Given the description of an element on the screen output the (x, y) to click on. 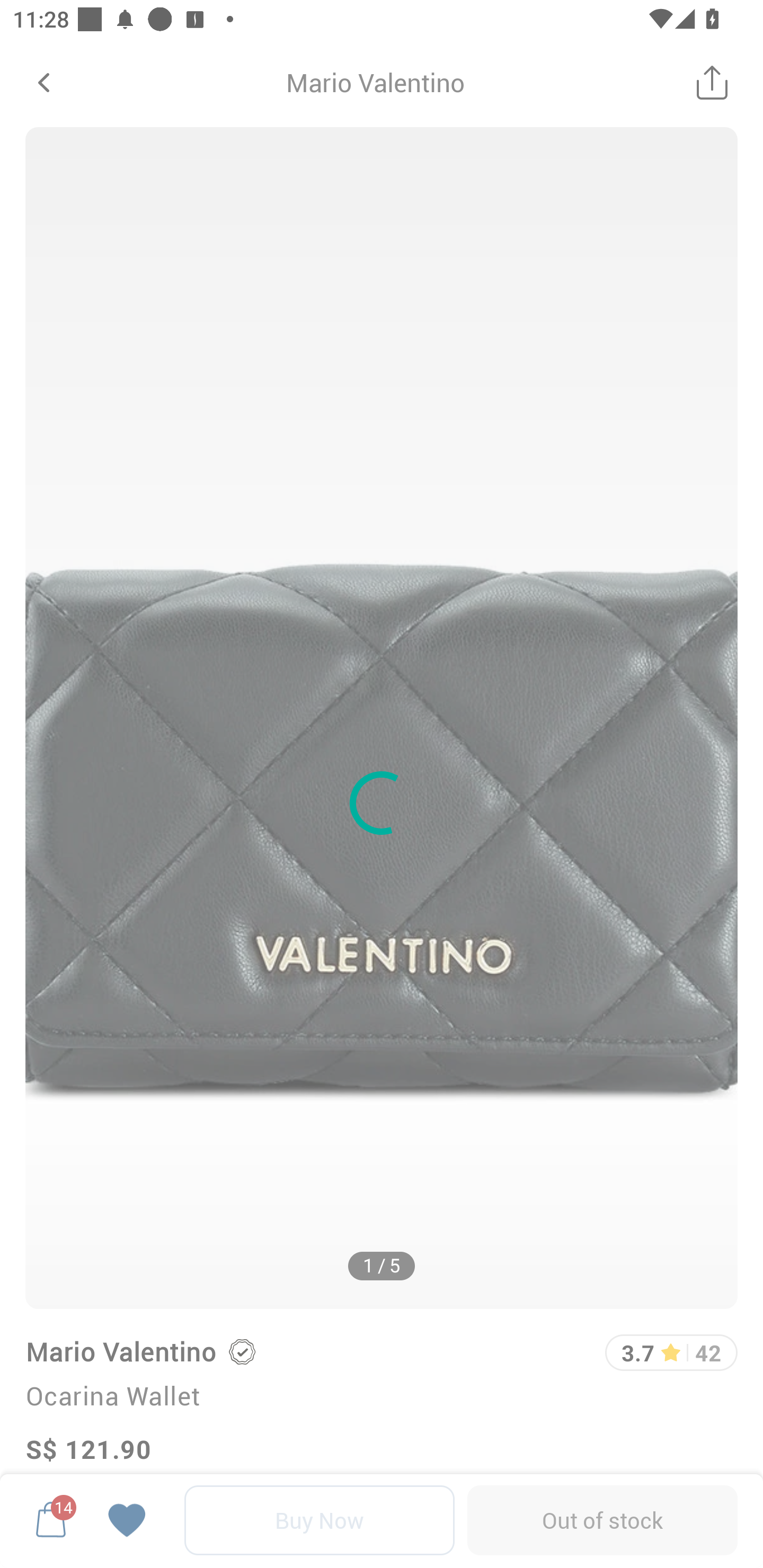
Mario Valentino (375, 82)
Share this Product (711, 82)
Mario Valentino (120, 1351)
3.7 42 (671, 1352)
Out of stock (601, 1519)
14 (50, 1520)
